Given the description of an element on the screen output the (x, y) to click on. 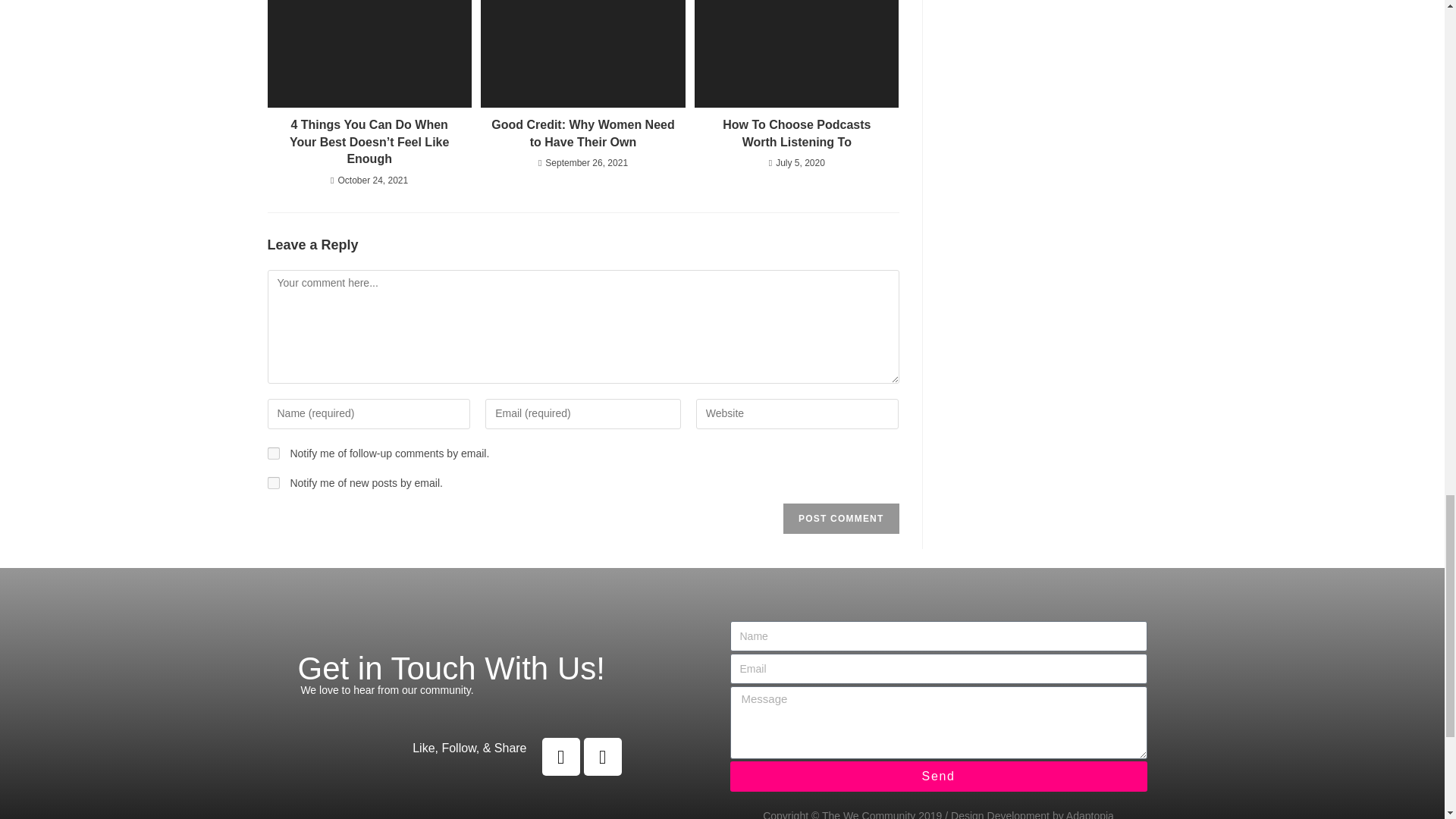
subscribe (272, 482)
subscribe (272, 453)
Post Comment (840, 518)
